Given the description of an element on the screen output the (x, y) to click on. 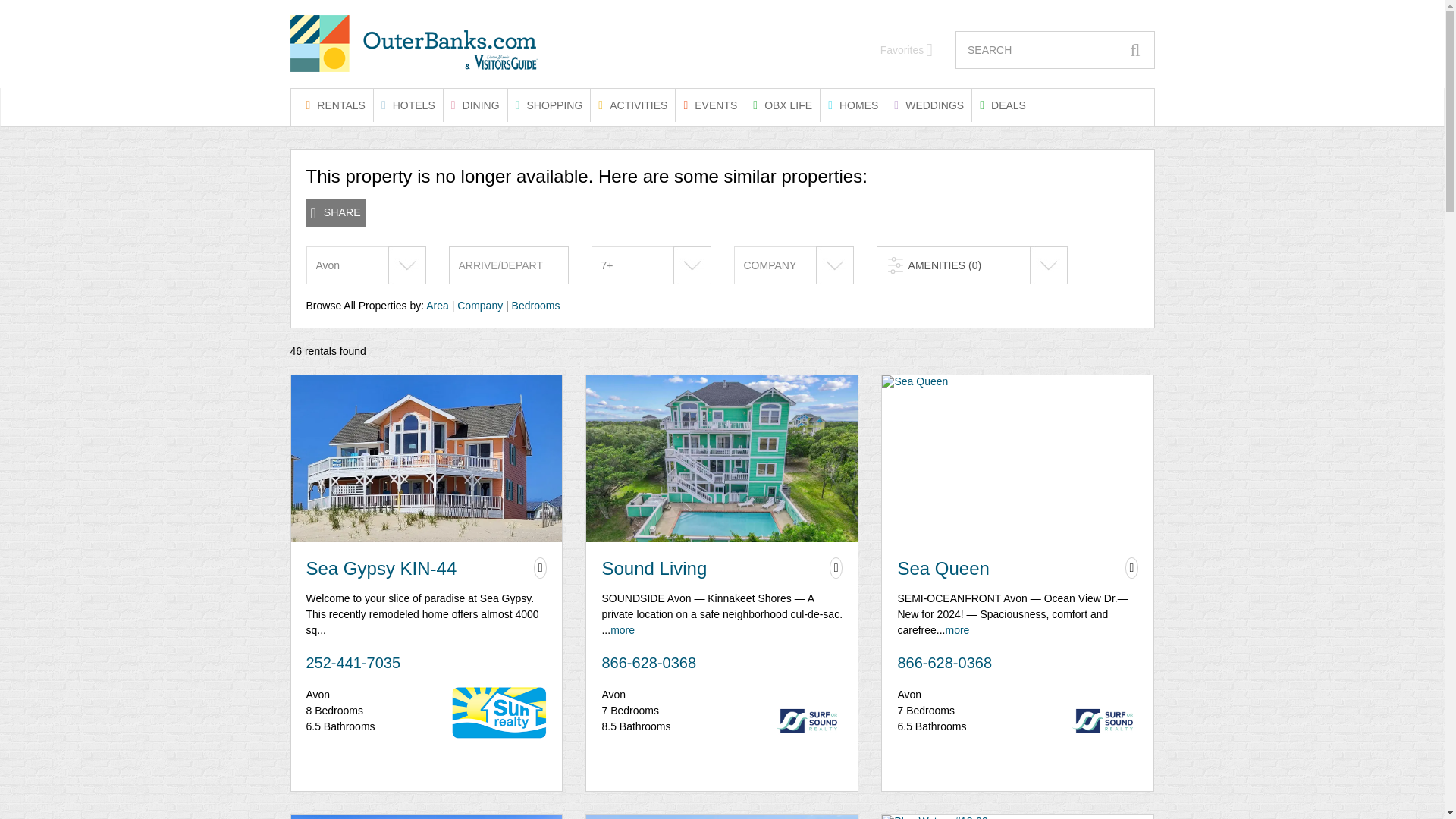
HOTELS (408, 105)
Bedrooms (536, 305)
Company (479, 305)
Area (437, 305)
HOMES (853, 105)
EVENTS (709, 105)
RENTALS (335, 105)
ACTIVITIES (633, 105)
DEALS (1002, 105)
SHARE (335, 212)
SHOPPING (549, 105)
WEDDINGS (928, 105)
Favorites (906, 49)
OBX LIFE (782, 105)
DINING (475, 105)
